Given the description of an element on the screen output the (x, y) to click on. 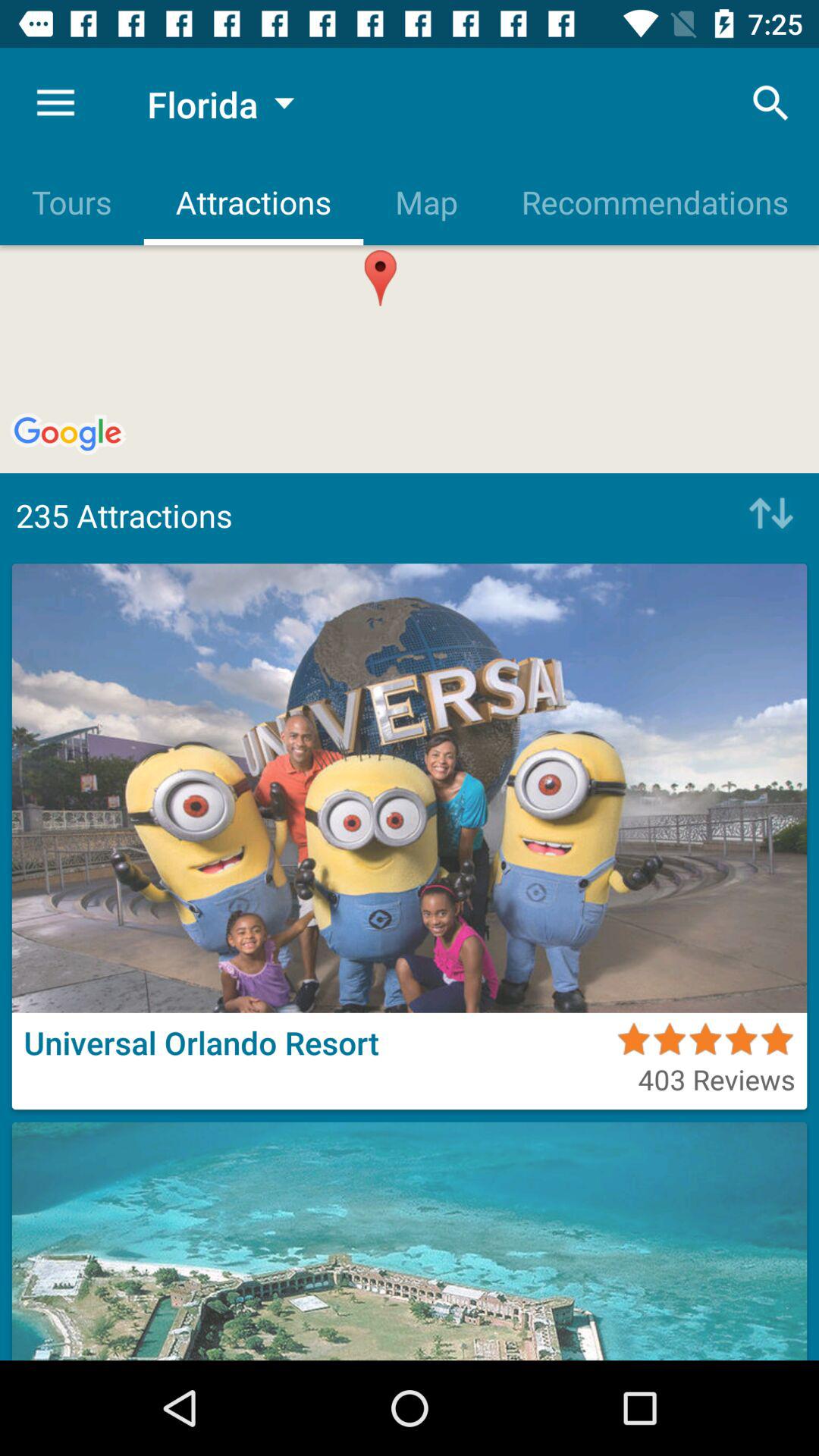
turn on the item above 235 attractions (654, 202)
